Given the description of an element on the screen output the (x, y) to click on. 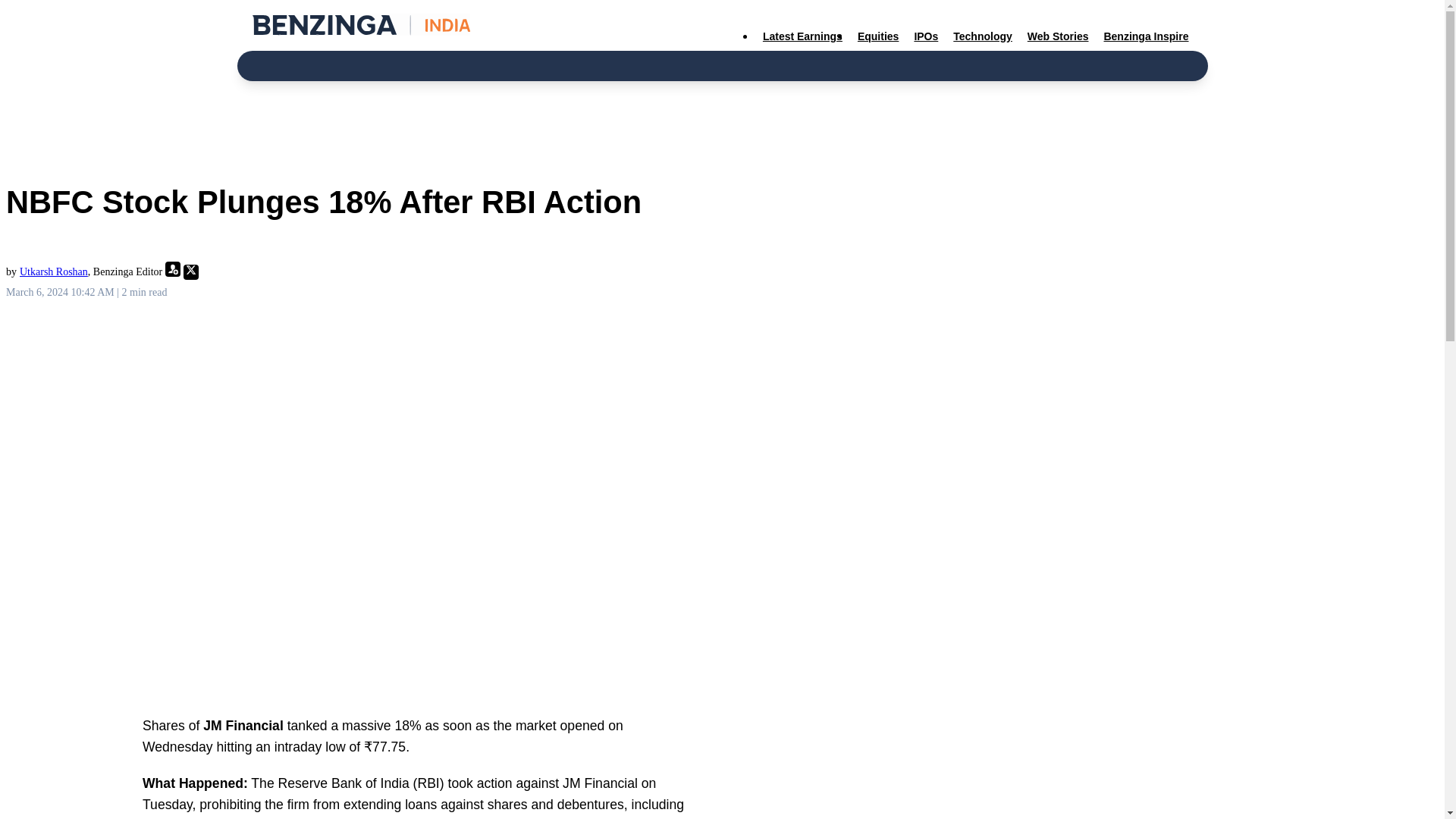
Technology (982, 36)
Equities (877, 36)
IPOs (924, 36)
Web Stories (1058, 36)
Technology (982, 36)
Benzinga Inspire (1145, 36)
Latest Earnings (802, 36)
Latest Earnings (802, 36)
Benzinga Inspire (1145, 36)
IPOs (924, 36)
